Given the description of an element on the screen output the (x, y) to click on. 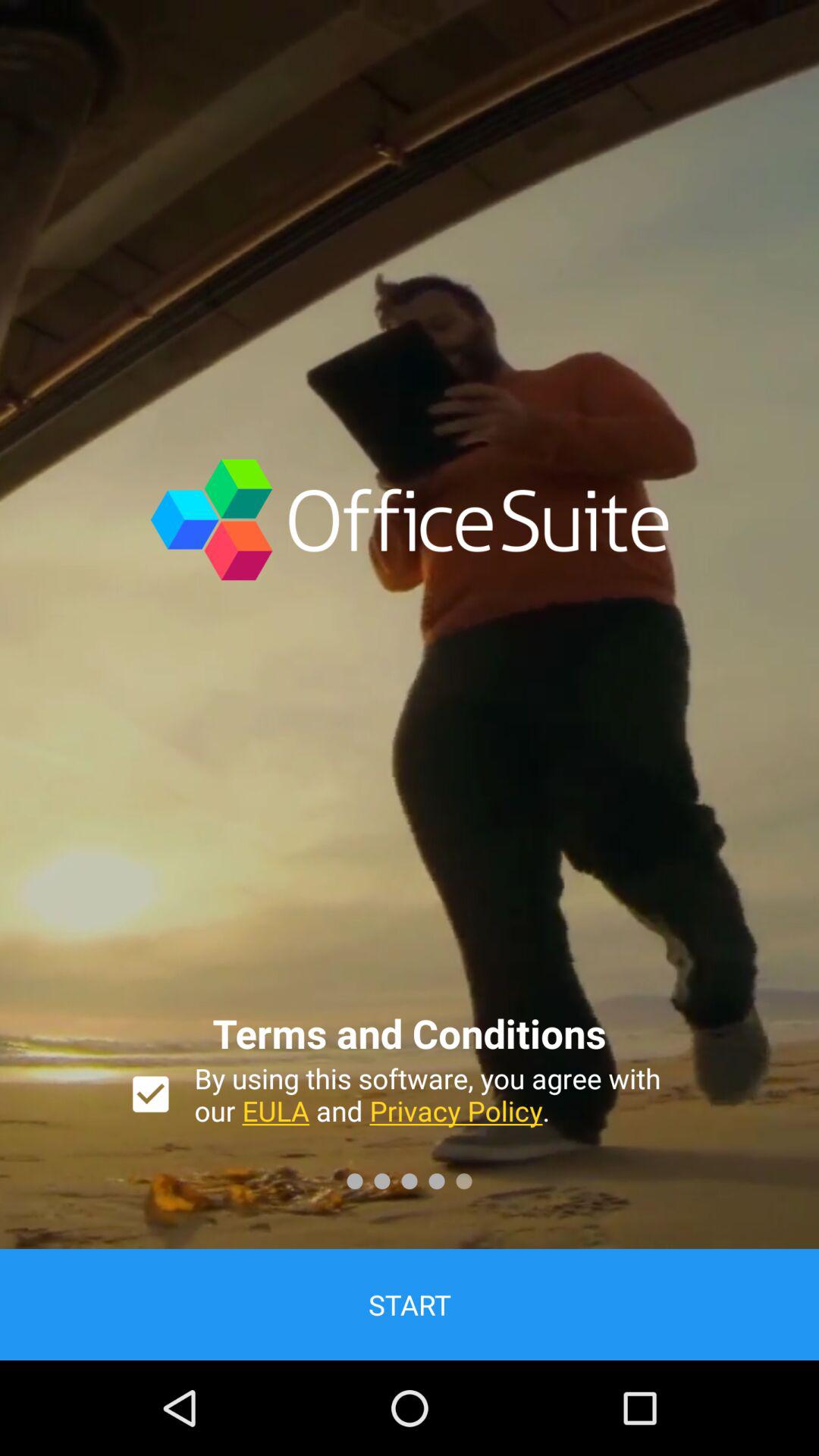
click on the second dot at the bottom of the page (381, 1181)
click on the fourth button at the bottom of the page (436, 1181)
select the third dot button at the bottom of the page (409, 1181)
click on the check box (150, 1094)
